Given the description of an element on the screen output the (x, y) to click on. 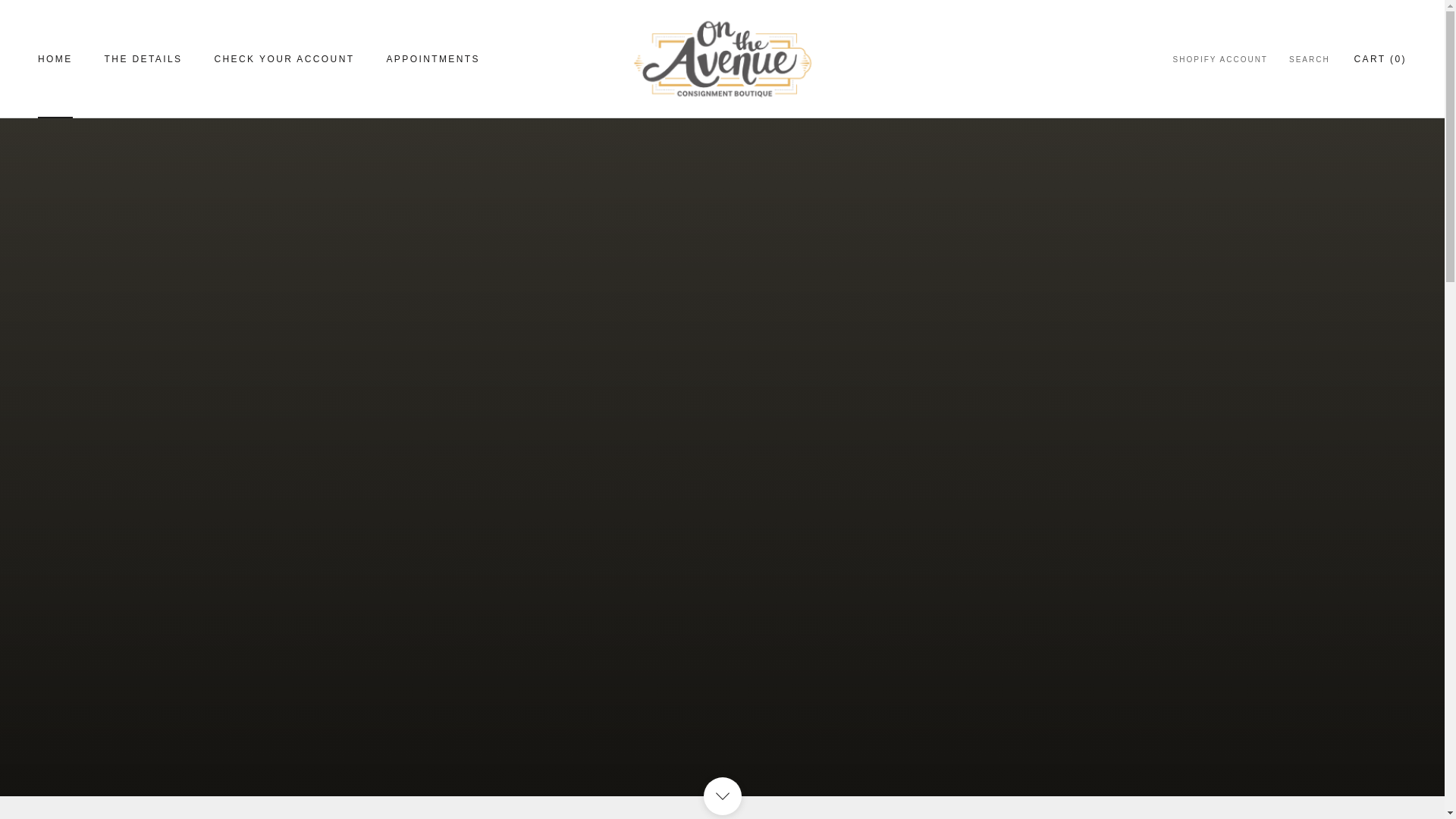
SEARCH (1309, 60)
SHOPIFY ACCOUNT (1220, 60)
THE DETAILS (54, 59)
